Given the description of an element on the screen output the (x, y) to click on. 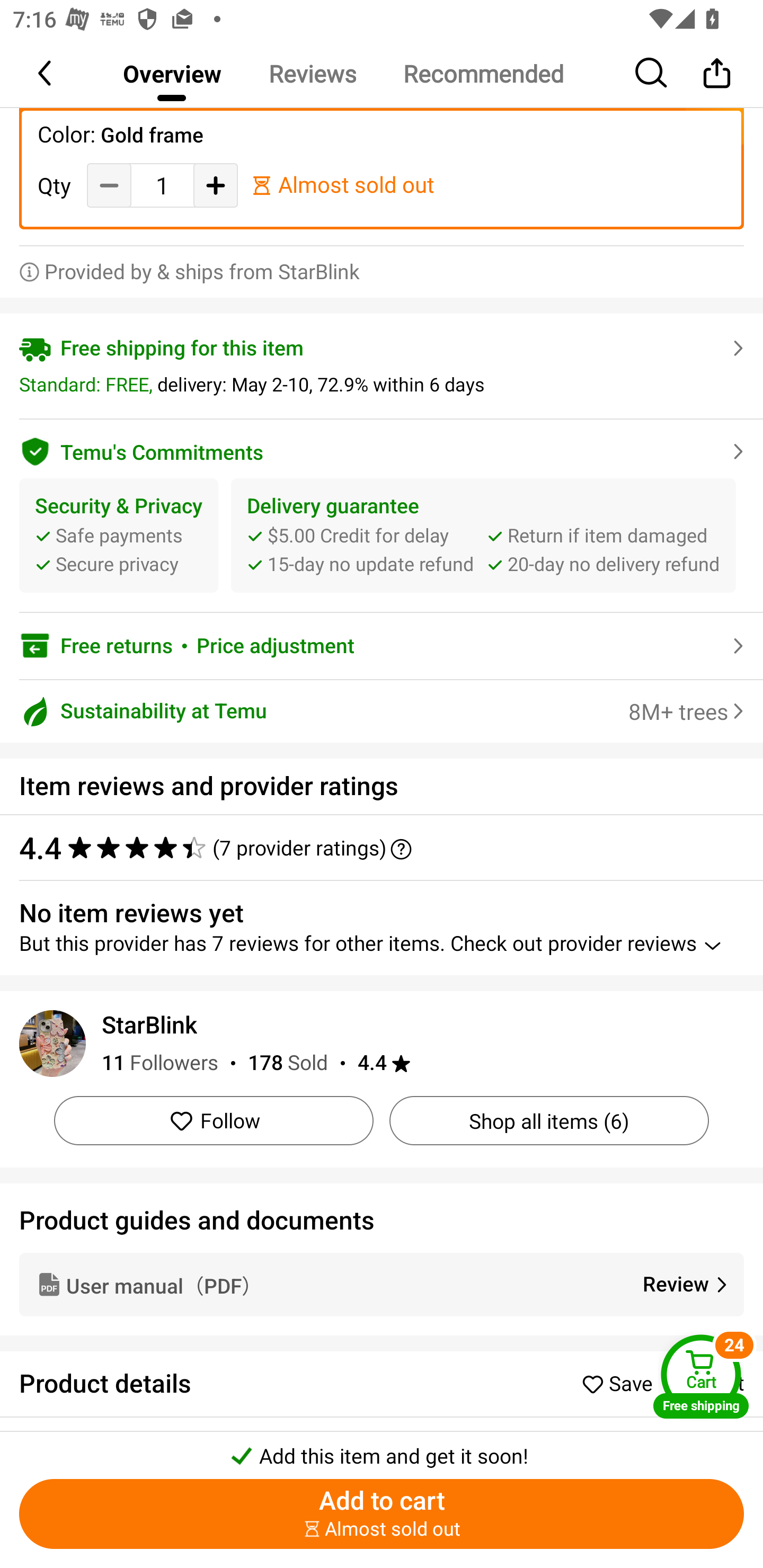
Overview (171, 72)
Reviews (311, 72)
Recommended (482, 72)
Back (46, 72)
Share (716, 72)
Decrease Quantity Button (108, 184)
Add Quantity button (215, 184)
1 (162, 185)
Temu's Commitments (381, 449)
Security & Privacy Safe payments Secure privacy (118, 535)
Free returns￼Price adjustment (381, 645)
Sustainability at Temu 8M+ trees (381, 711)
4.4 ‪(7 provider ratings) (371, 847)
  Follow (213, 1120)
Shop all items (6) (548, 1120)
User manual（PDF） Review (381, 1284)
Cart Free shipping Cart (701, 1375)
￼￼Add this item and get it soon!  (381, 1450)
Add to cart ￼￼Almost sold out (381, 1513)
